Given the description of an element on the screen output the (x, y) to click on. 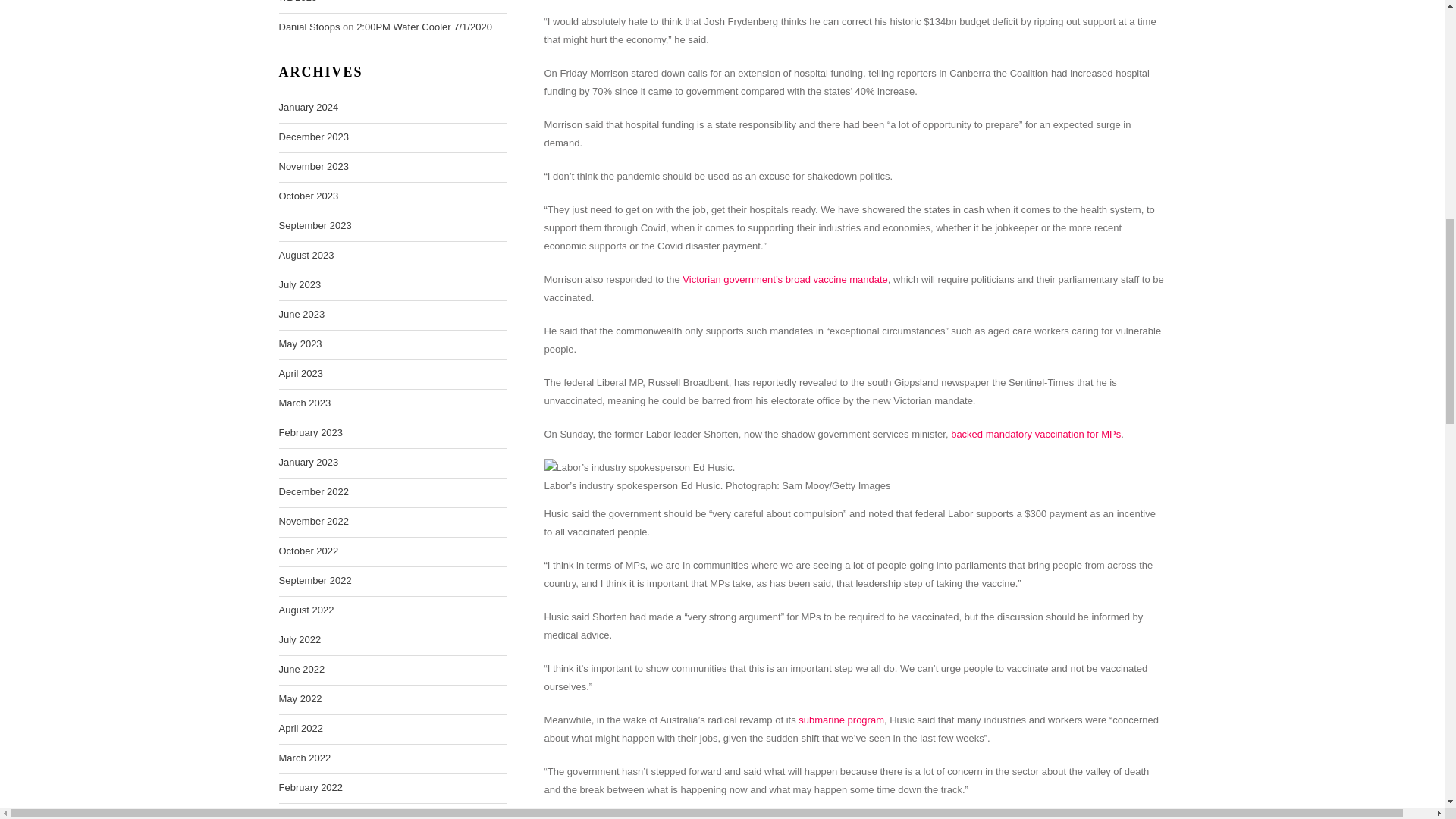
submarine program (840, 719)
backed mandatory vaccination for MPs (1035, 433)
July 2023 (300, 285)
October 2023 (309, 196)
January 2024 (309, 107)
Danial Stoops (309, 26)
August 2023 (306, 255)
November 2023 (314, 167)
September 2023 (315, 226)
December 2023 (314, 136)
